Given the description of an element on the screen output the (x, y) to click on. 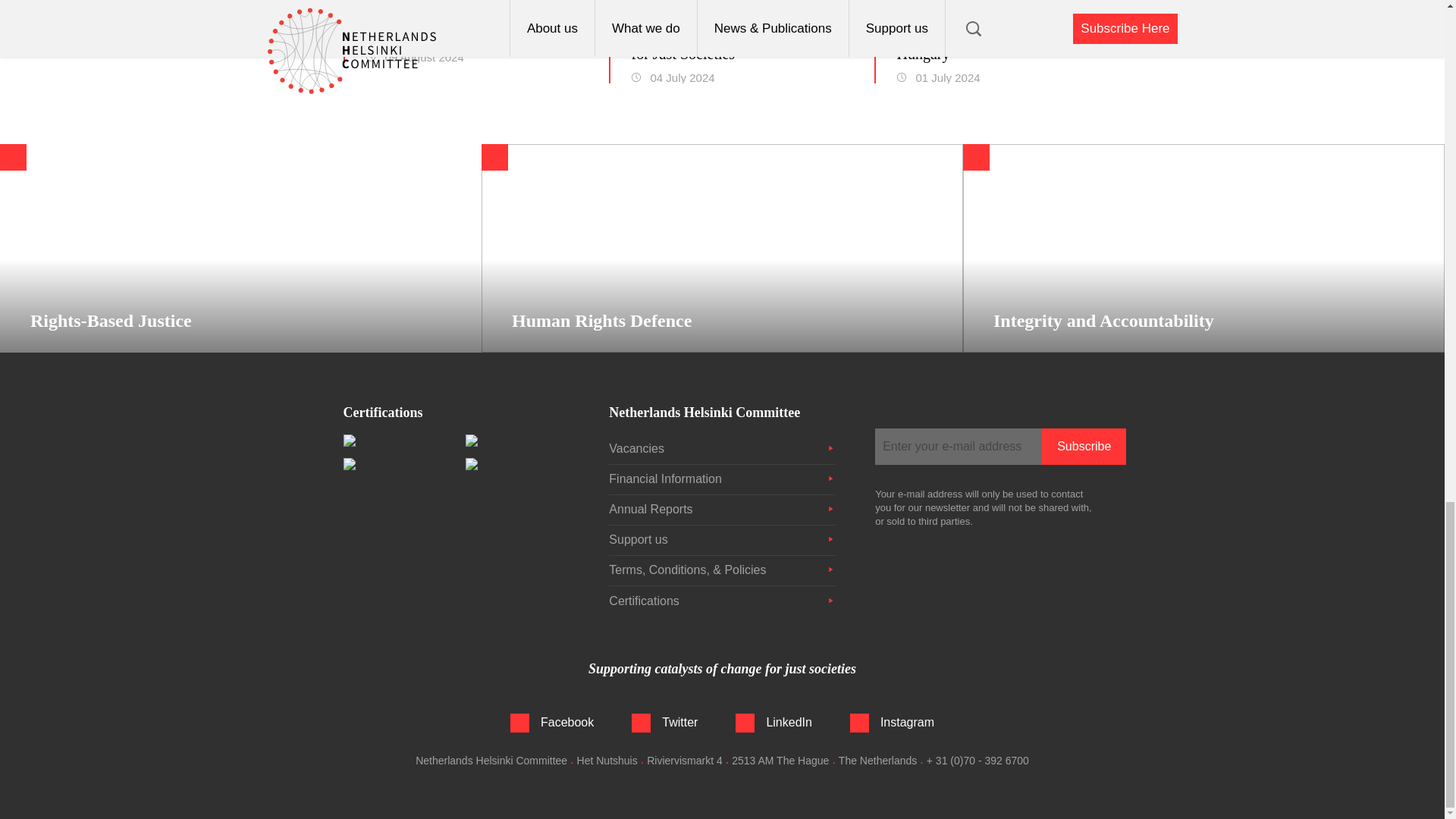
Vacancies (721, 448)
EPTA II: Recent Developments and Future Directions (467, 23)
Subscribe (1083, 445)
Financial Information (721, 478)
Human Rights Defence (721, 248)
Rights-Based Justice (240, 248)
